Given the description of an element on the screen output the (x, y) to click on. 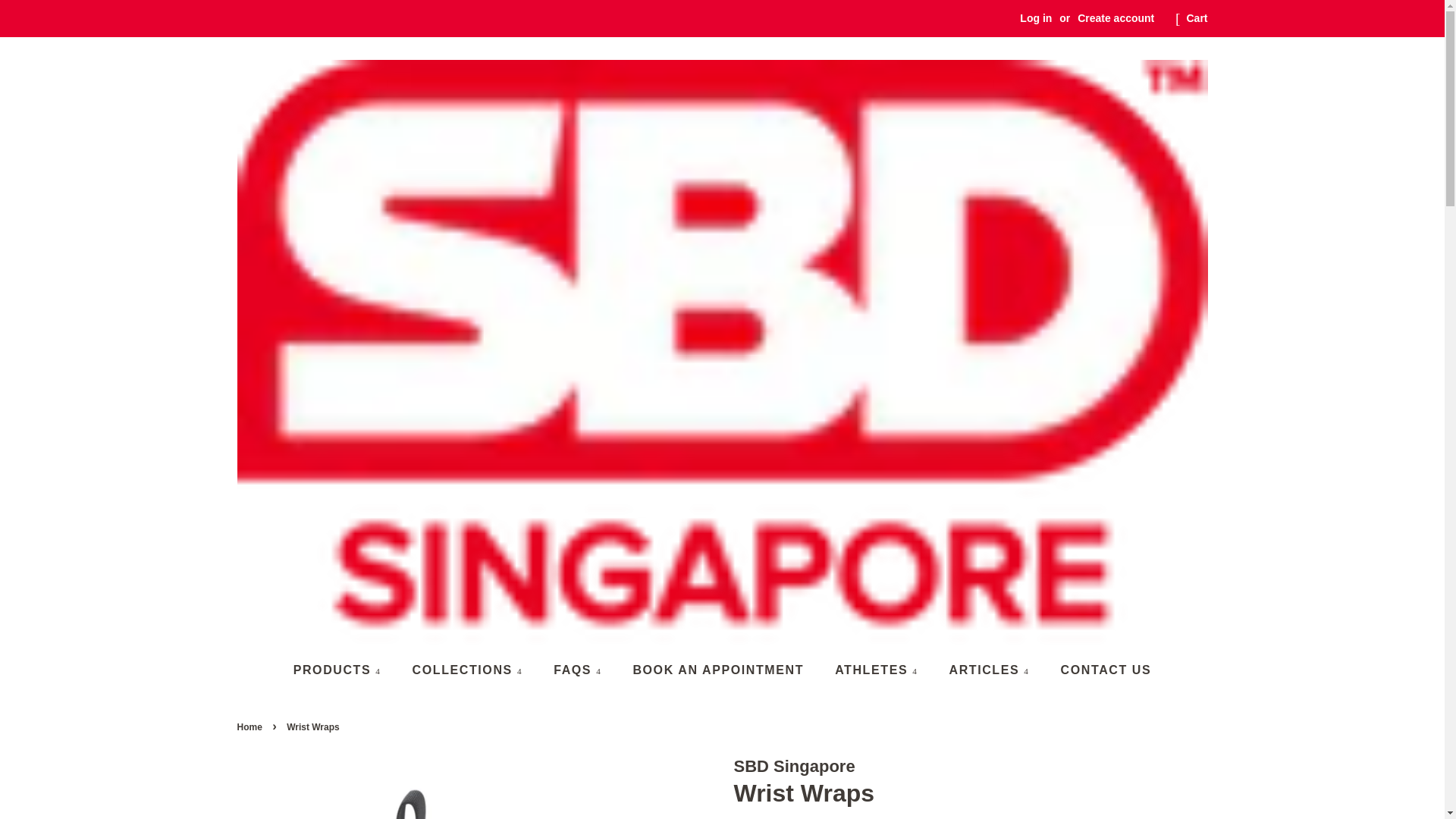
Log in (1035, 18)
Create account (1115, 18)
Cart (1196, 18)
Back to the frontpage (249, 726)
